Given the description of an element on the screen output the (x, y) to click on. 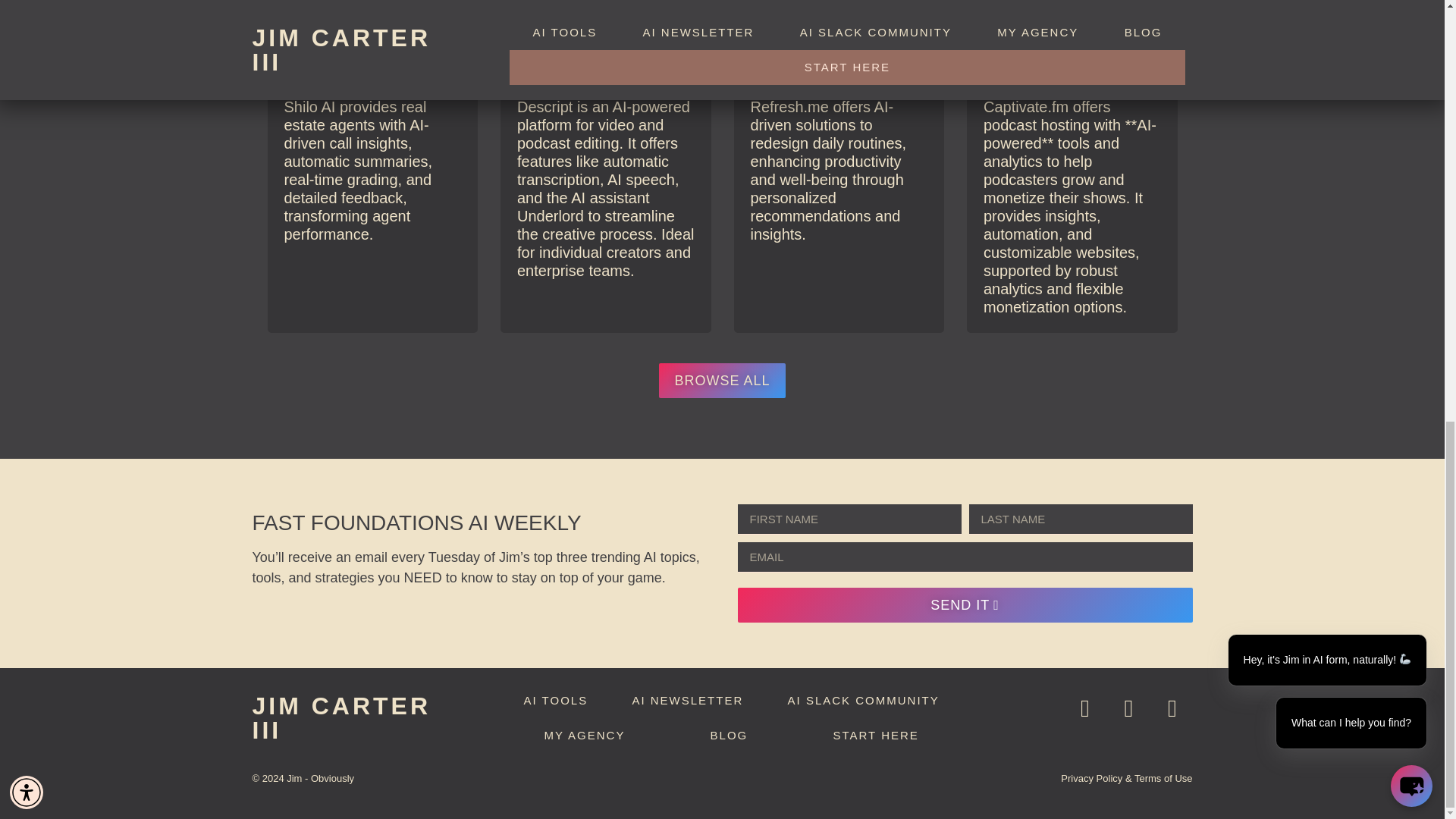
JIM CARTER III (340, 717)
SEND IT (964, 605)
AI NEWSLETTER (687, 700)
AI TOOLS (555, 700)
BROWSE ALL (721, 380)
